Given the description of an element on the screen output the (x, y) to click on. 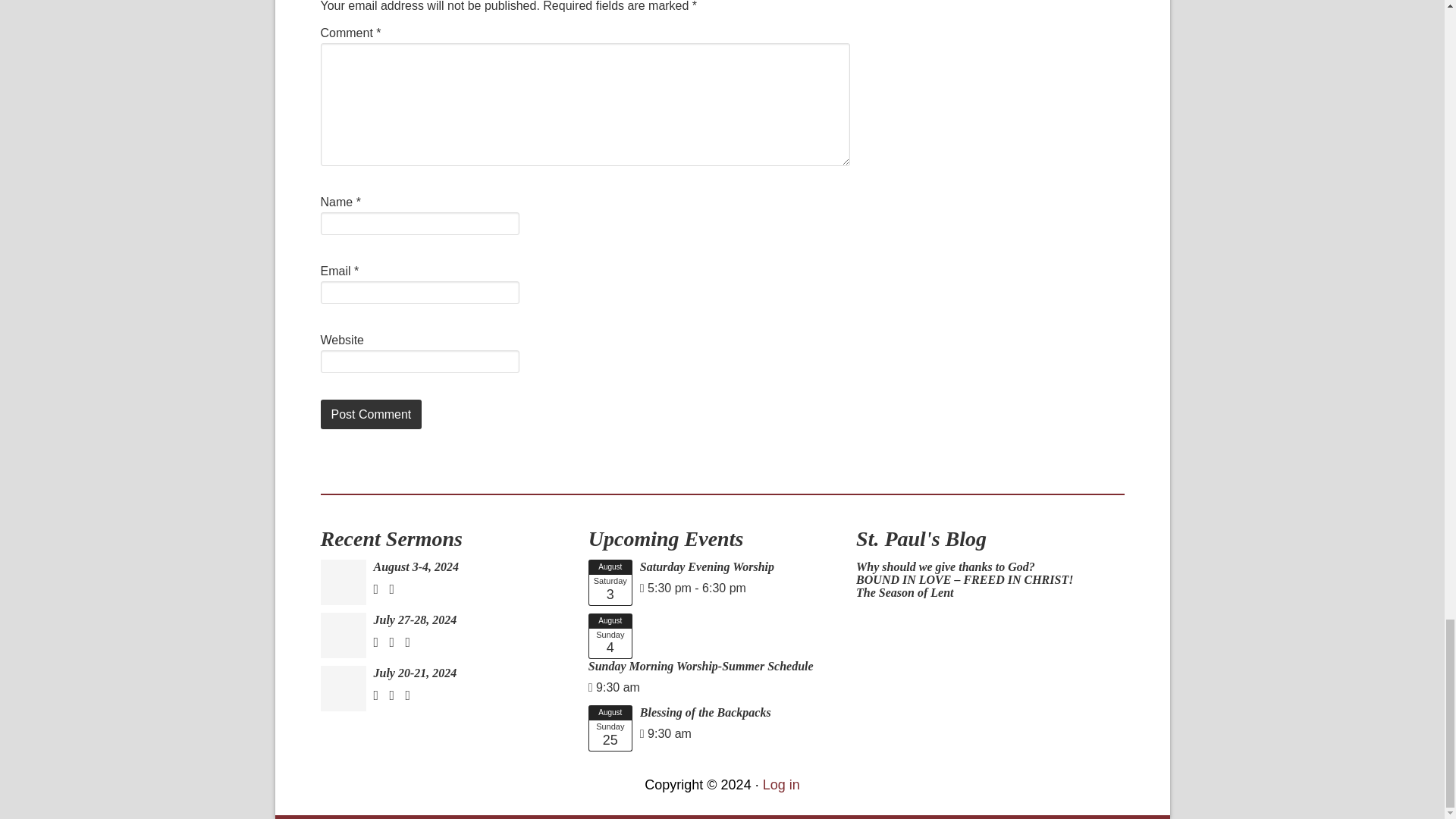
Saturday Evening Worship (707, 566)
Post Comment (371, 414)
Saturday Evening Worship (609, 582)
August 3-4, 2024 (415, 566)
Post Comment (371, 414)
July 27-28, 2024 (414, 619)
